Given the description of an element on the screen output the (x, y) to click on. 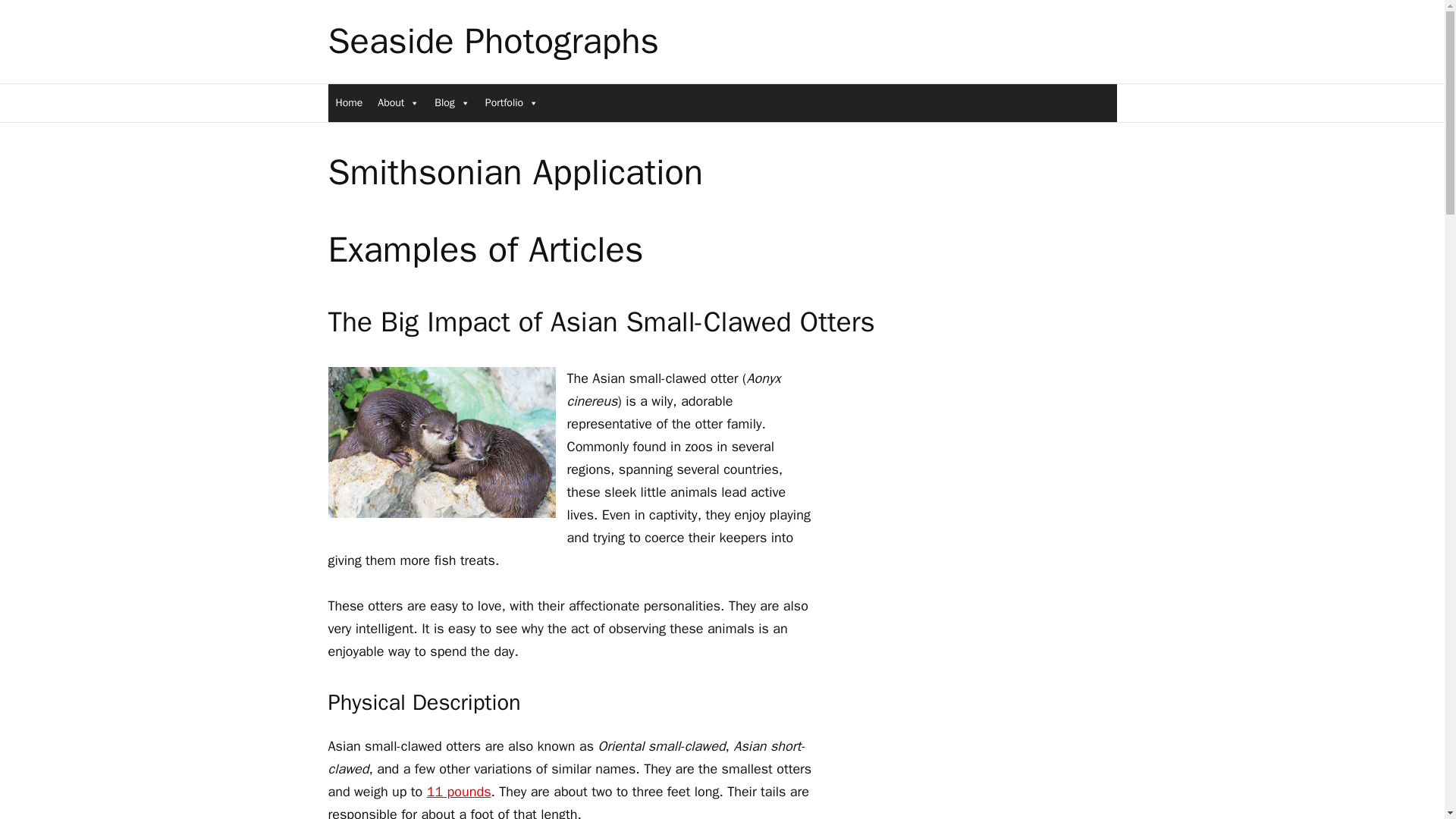
About (397, 102)
Home (348, 102)
Blog (451, 102)
11 pounds (459, 791)
Portfolio (511, 102)
Seaside Photographs (492, 40)
